Given the description of an element on the screen output the (x, y) to click on. 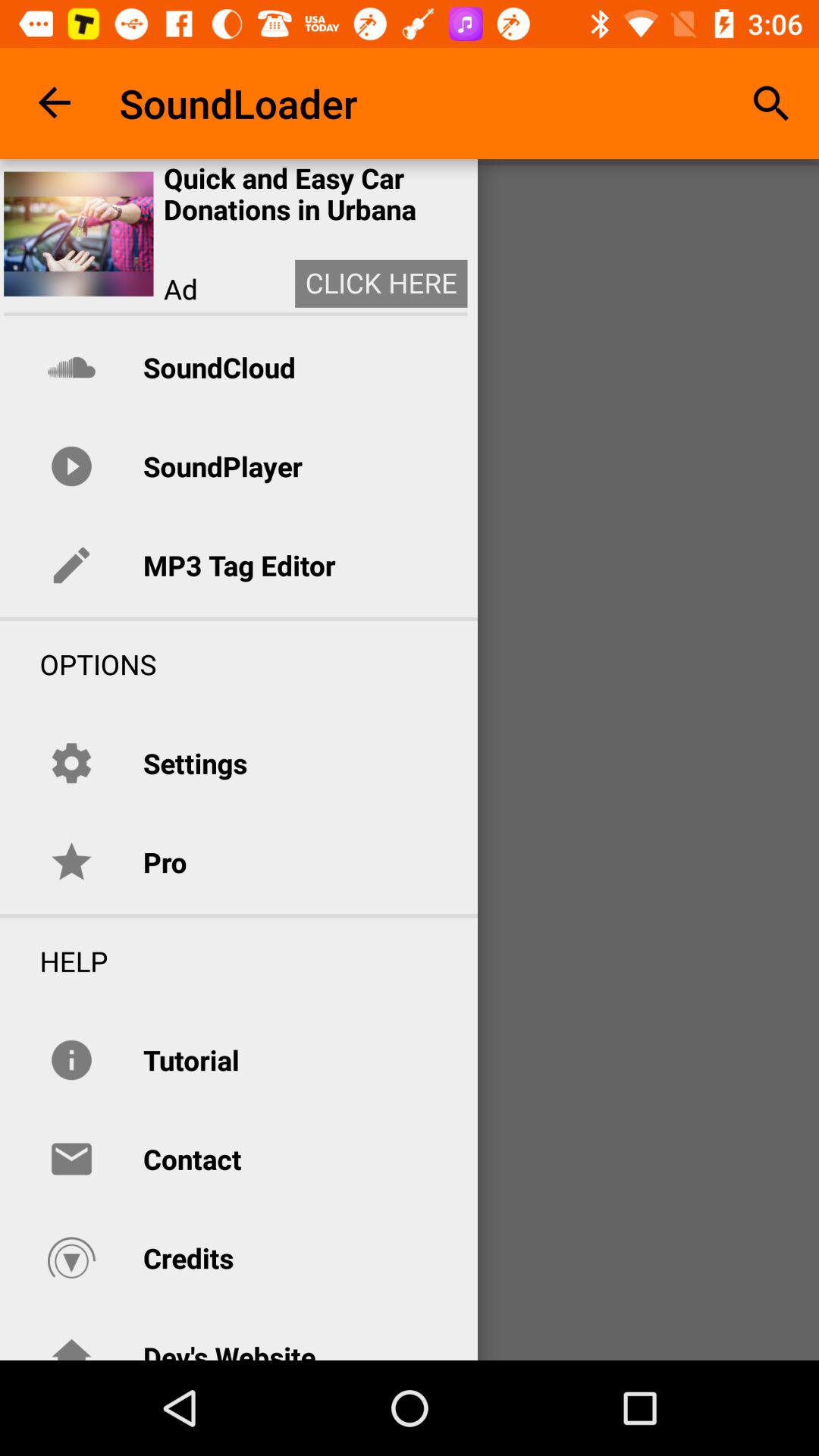
turn off item at the top right corner (771, 103)
